Given the description of an element on the screen output the (x, y) to click on. 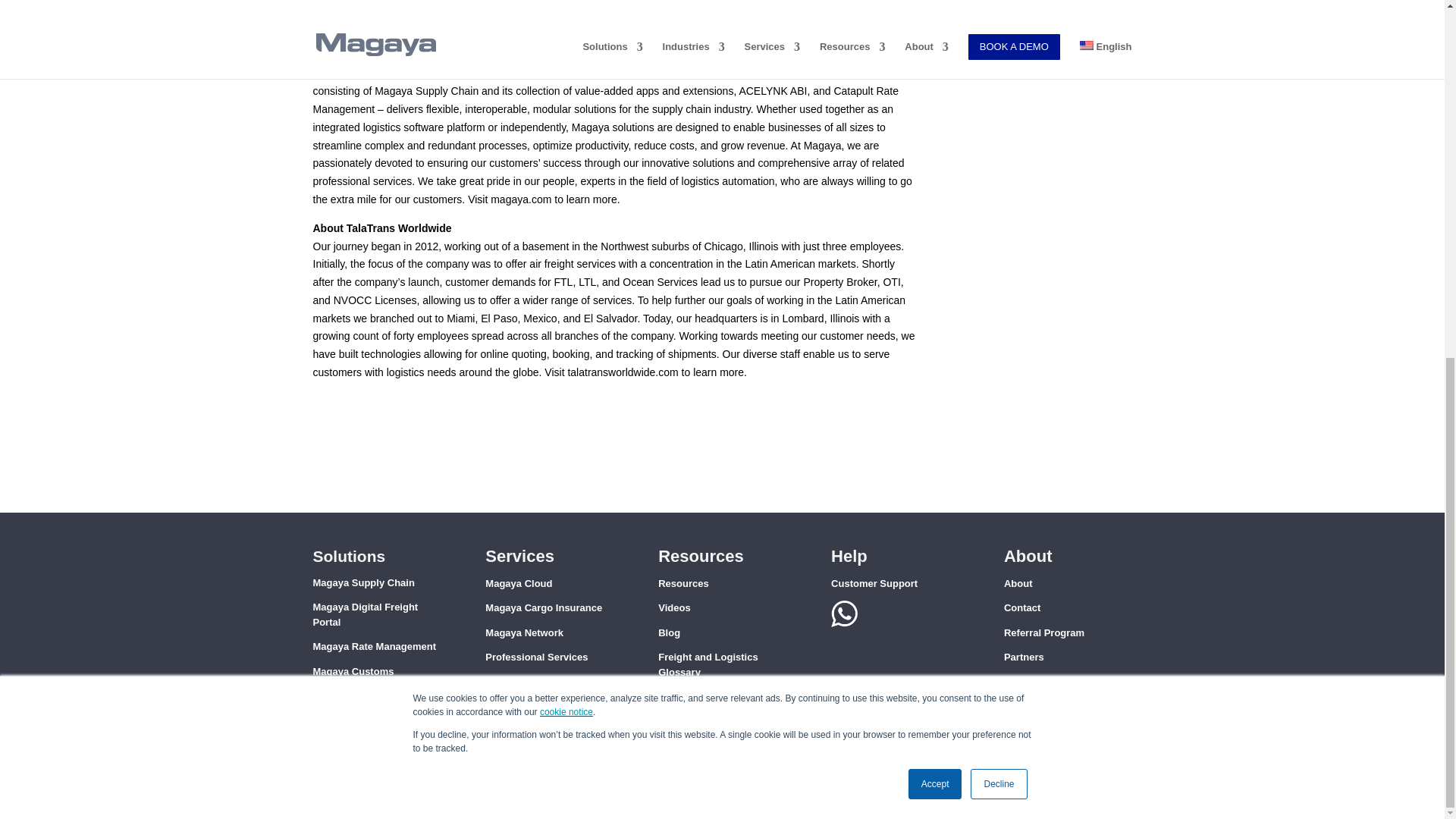
Follow on Youtube (1106, 718)
Follow on Facebook (1015, 718)
Follow on LinkedIn (1076, 718)
Decline (998, 152)
Accept (935, 152)
careers (1022, 681)
cookie notice (566, 80)
Follow on X (1045, 718)
